Given the description of an element on the screen output the (x, y) to click on. 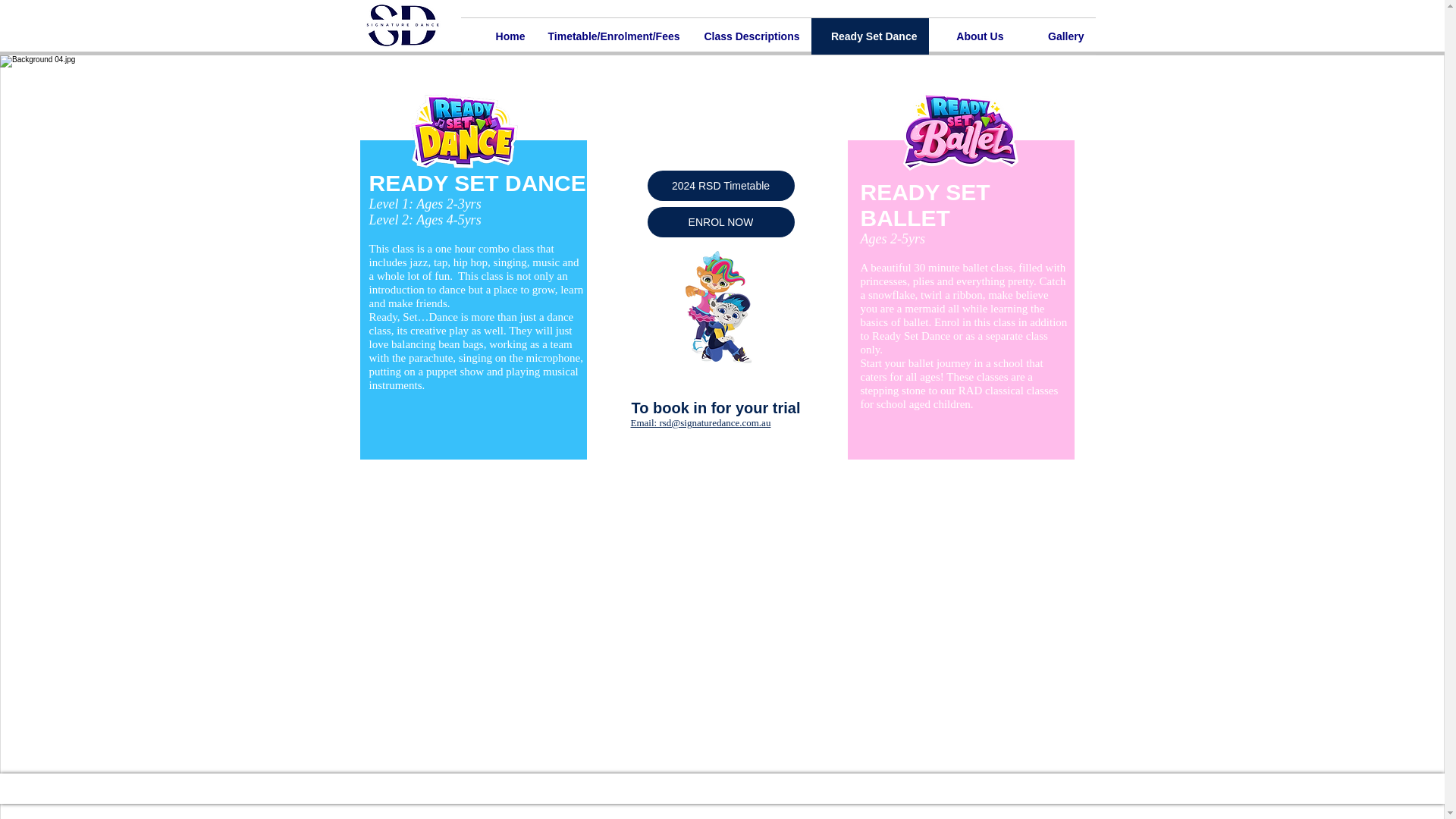
About Us (971, 36)
Class Descriptions (750, 36)
Gallery (1054, 36)
2024 RSD Timetable (720, 185)
Ready Set Dance (869, 36)
Home (499, 36)
ENROL NOW (720, 222)
